Given the description of an element on the screen output the (x, y) to click on. 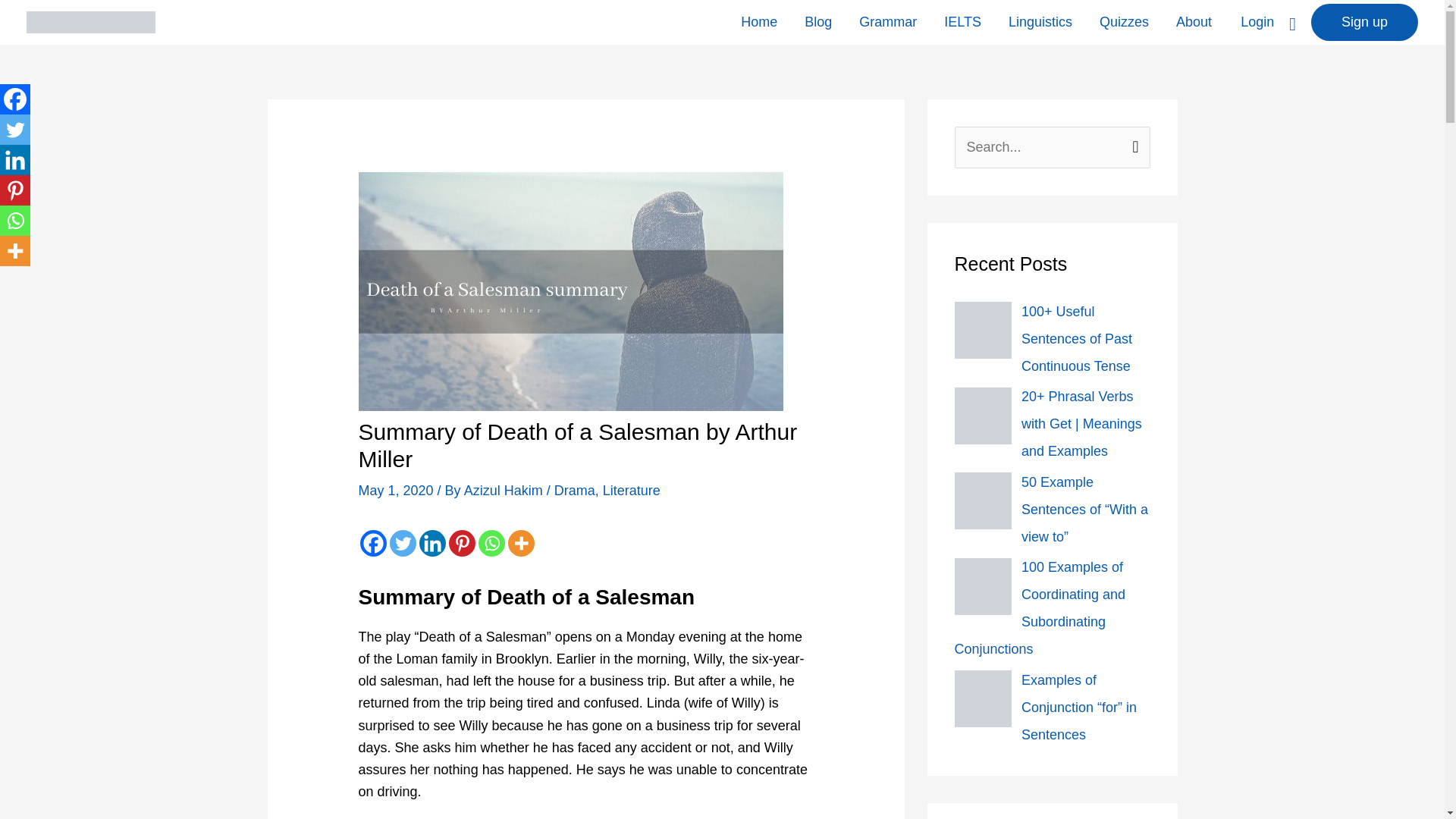
Linguistics (1040, 22)
Twitter (403, 542)
Sign up (1364, 22)
Literature (631, 490)
Blog (817, 22)
Linkedin (432, 542)
About (1193, 22)
IELTS (962, 22)
Azizul Hakim (505, 490)
Whatsapp (492, 542)
